Given the description of an element on the screen output the (x, y) to click on. 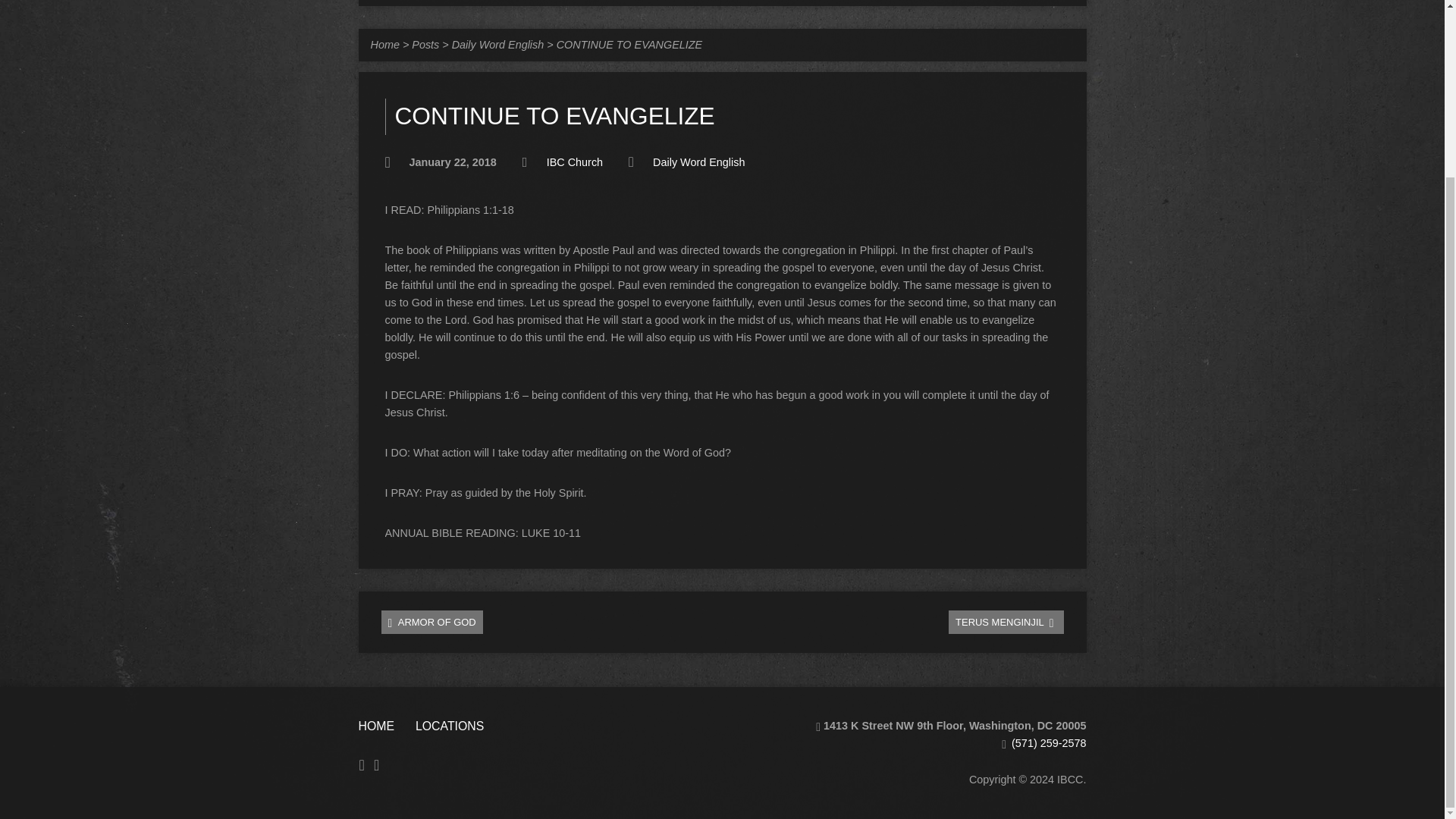
CONTINUE TO EVANGELIZE (628, 44)
Home (383, 44)
Daily Word English (497, 44)
Posts (425, 44)
IBC Church (574, 162)
